Given the description of an element on the screen output the (x, y) to click on. 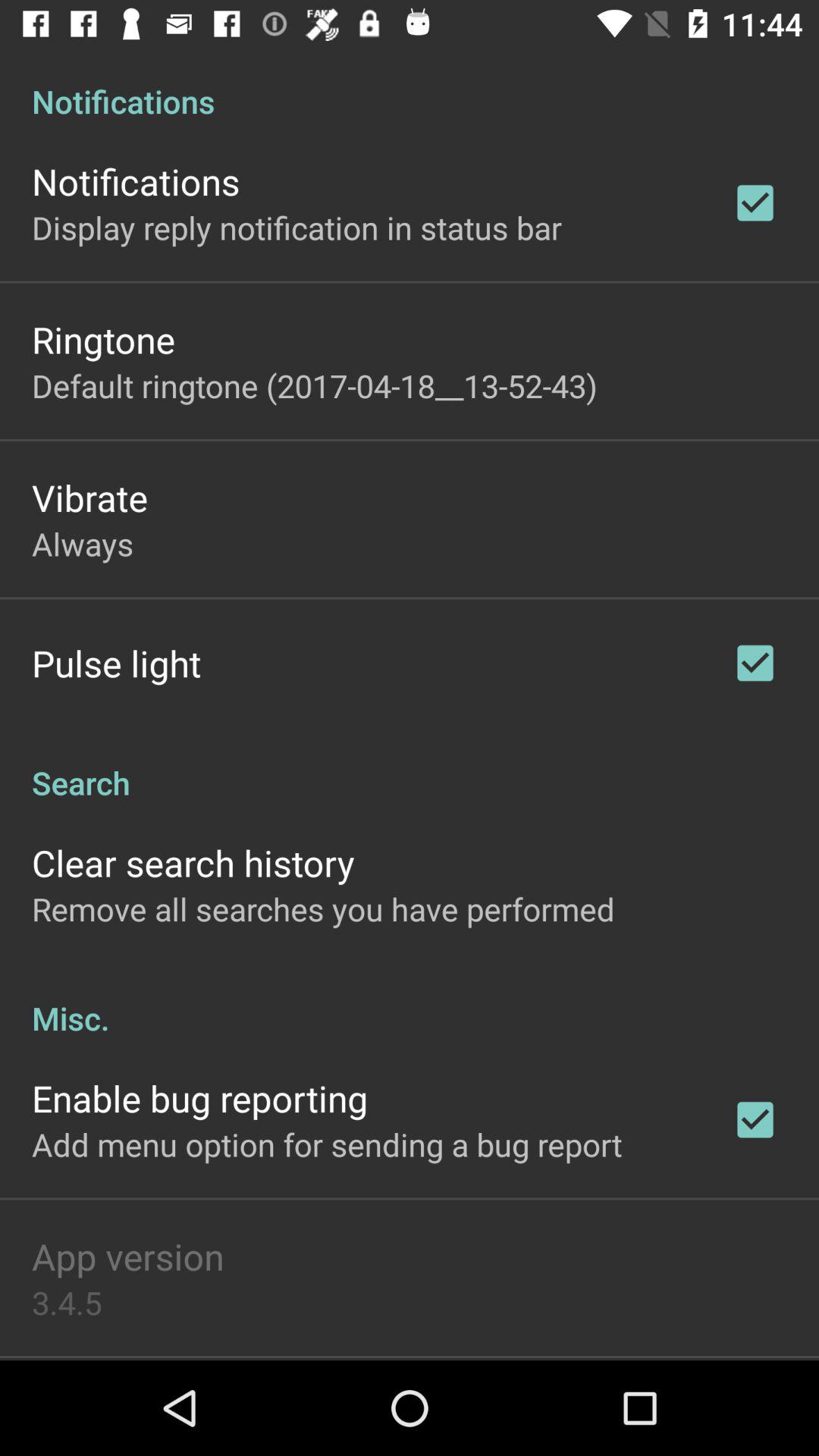
turn on the item above the ringtone (296, 227)
